Given the description of an element on the screen output the (x, y) to click on. 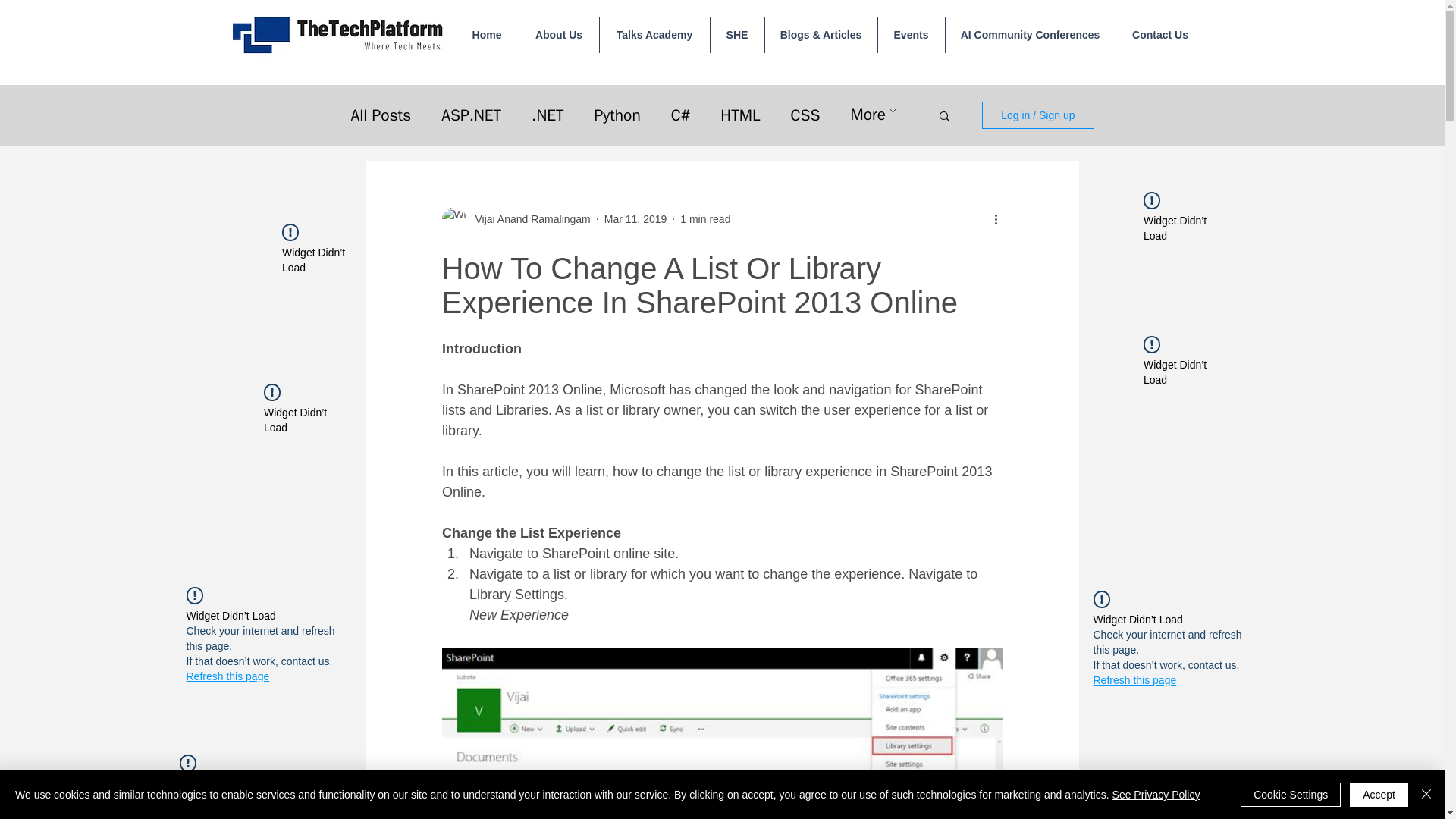
HTML (740, 115)
Contact Us (1160, 34)
CSS (804, 115)
About Us (558, 34)
All Posts (380, 115)
AI Community Conferences (1029, 34)
ASP.NET (470, 115)
Python (617, 115)
Events (910, 34)
Vijai Anand Ramalingam (515, 218)
Vijai Anand Ramalingam (527, 218)
Talks Academy (653, 34)
1 min read (704, 218)
Home (486, 34)
SHE (736, 34)
